Given the description of an element on the screen output the (x, y) to click on. 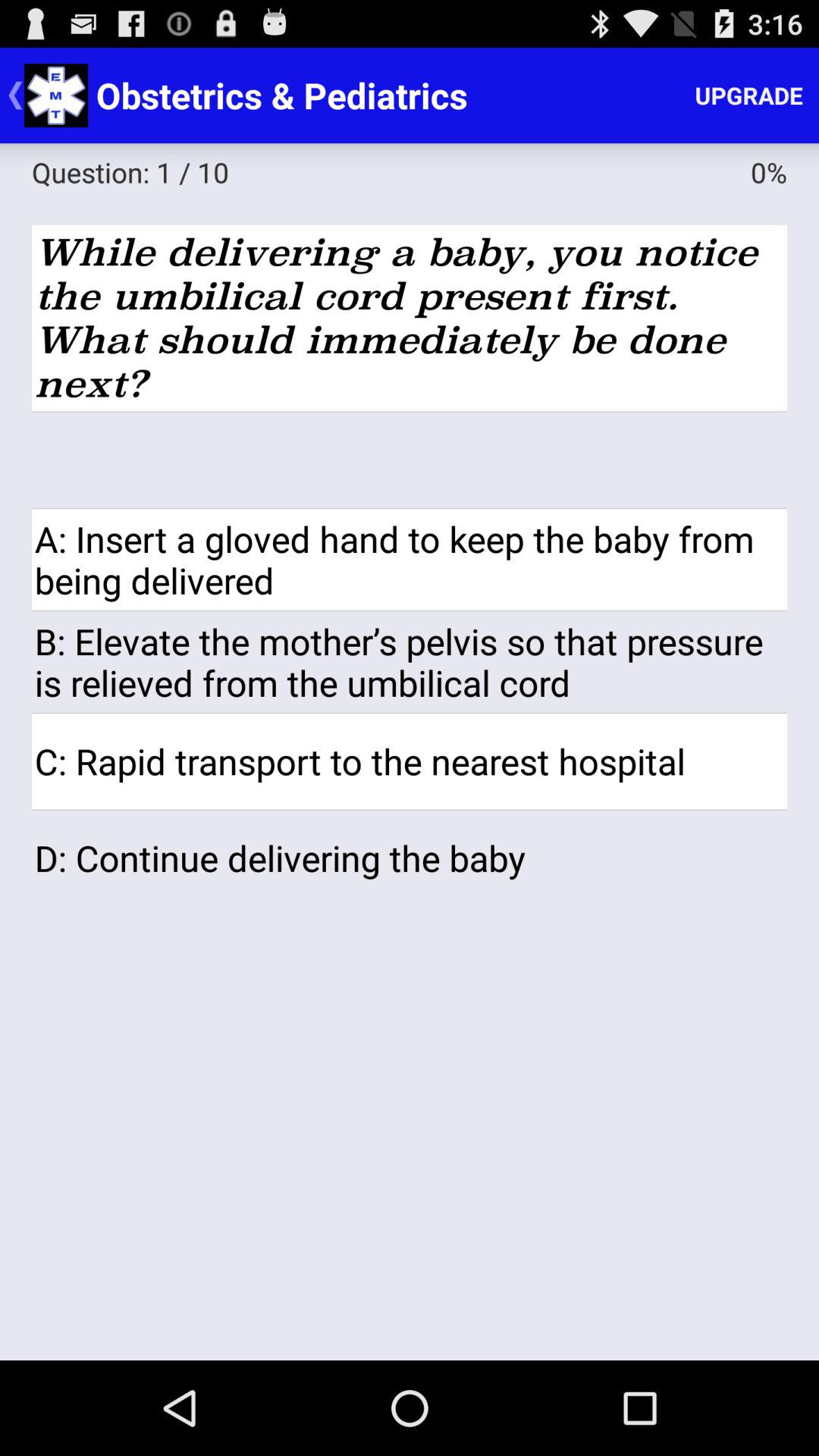
select upgrade (749, 95)
